Given the description of an element on the screen output the (x, y) to click on. 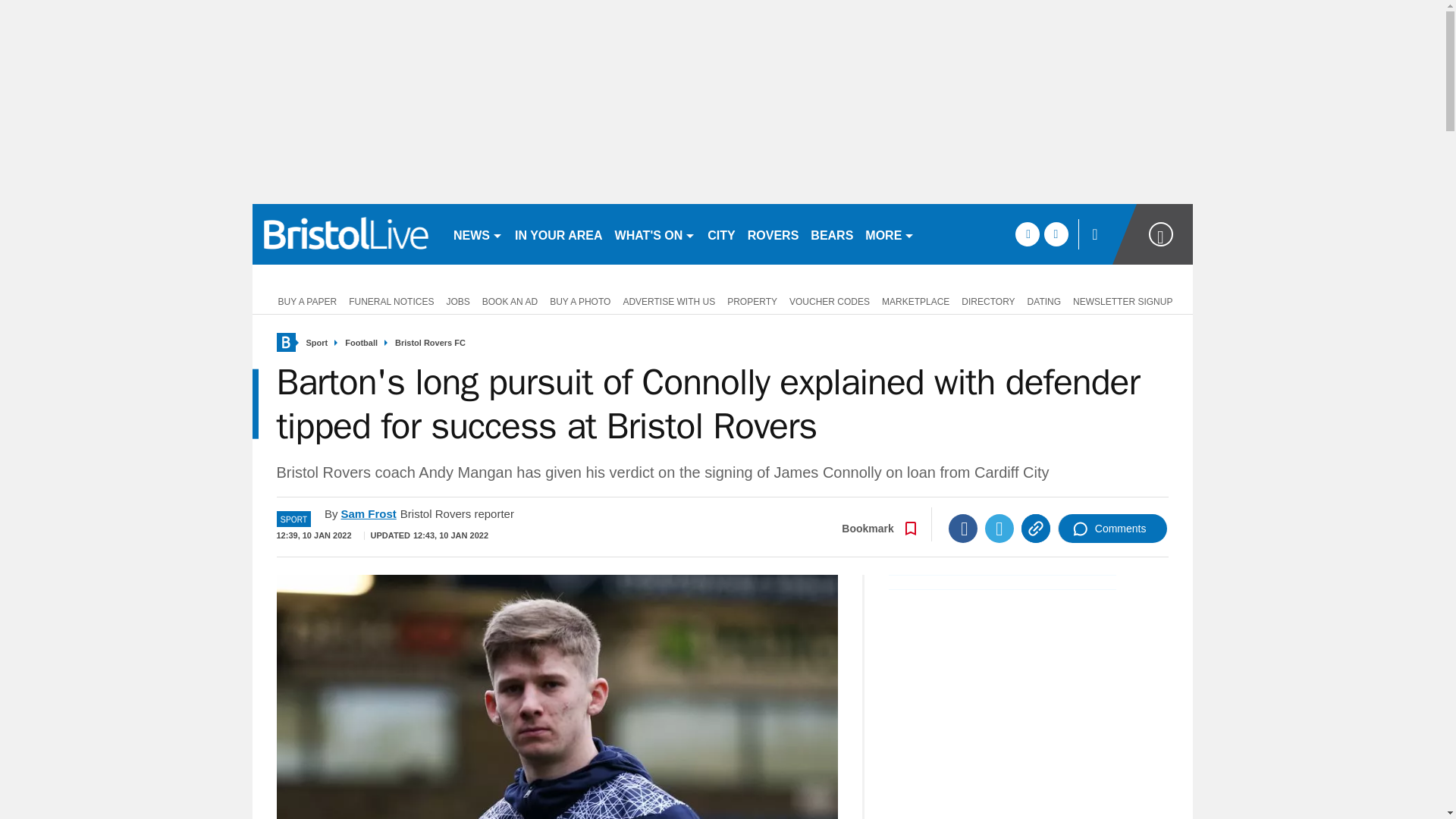
Twitter (999, 528)
MORE (889, 233)
BEARS (832, 233)
NEWS (477, 233)
WHAT'S ON (654, 233)
Facebook (962, 528)
IN YOUR AREA (558, 233)
Comments (1112, 528)
facebook (1026, 233)
twitter (1055, 233)
bristolpost (345, 233)
ROVERS (773, 233)
